Given the description of an element on the screen output the (x, y) to click on. 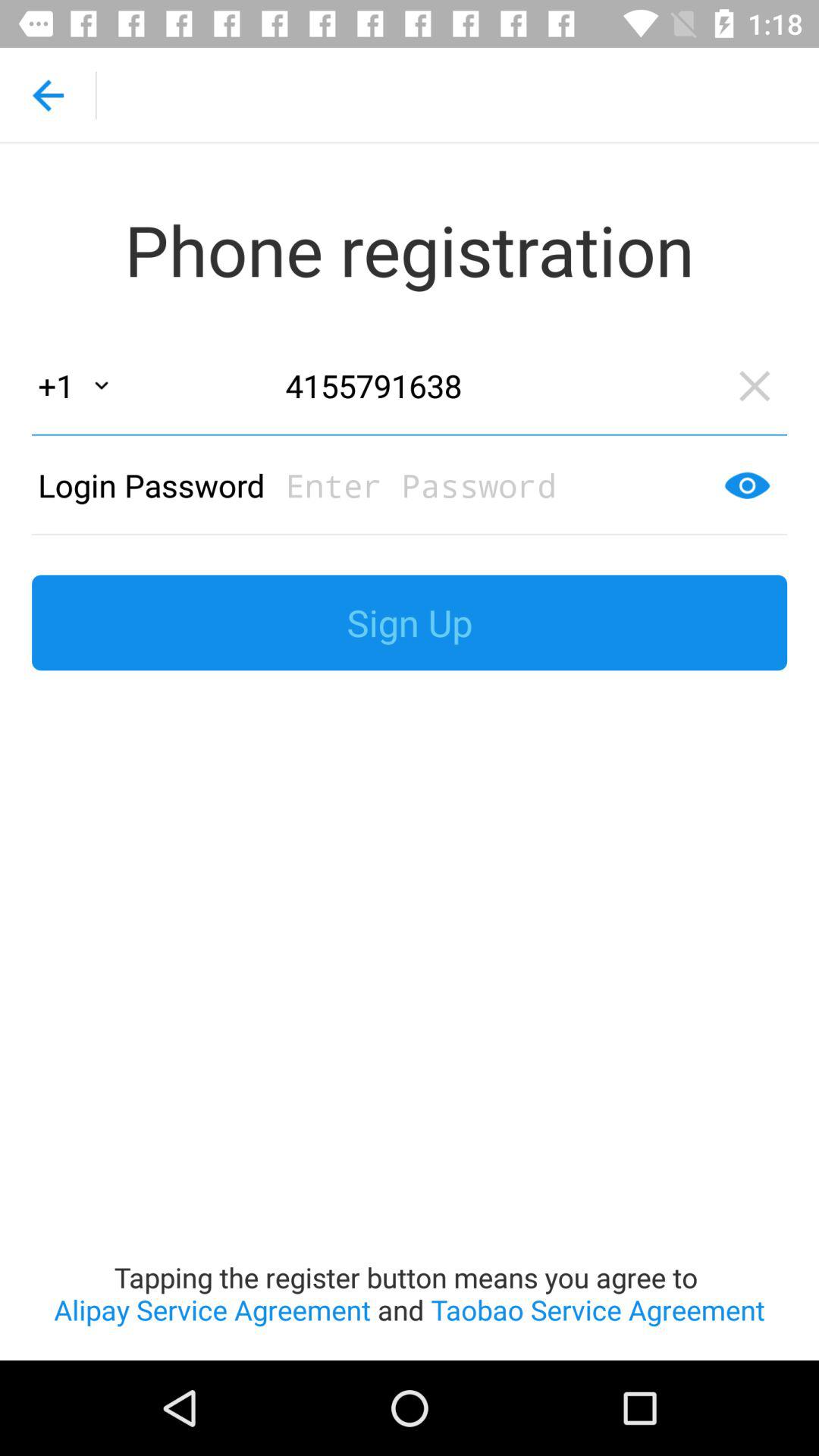
choose sign up at the center (409, 622)
